Given the description of an element on the screen output the (x, y) to click on. 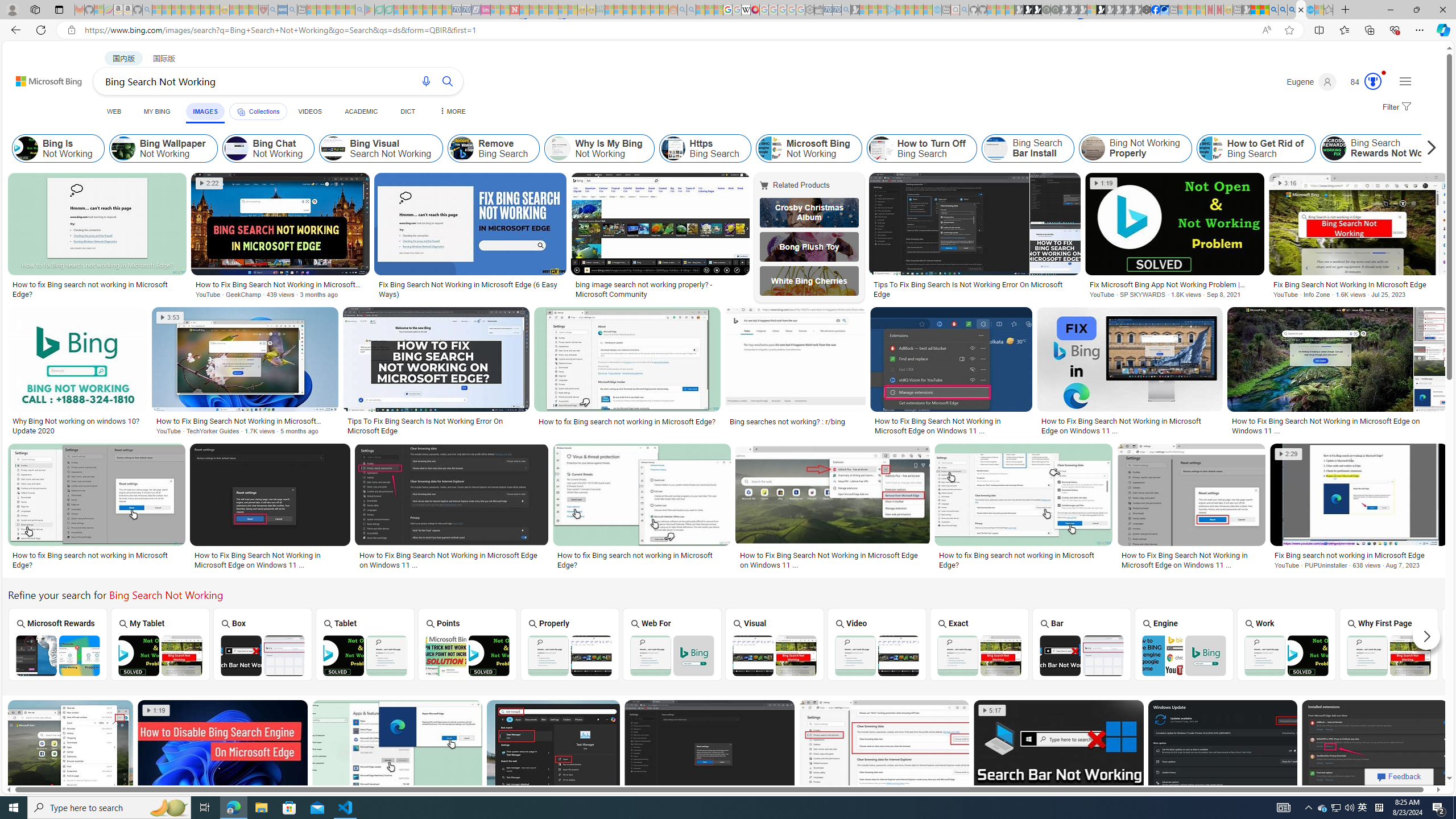
How to Turn Off Bing Search (879, 148)
Fix Bing search not working in Microsoft Edge (1358, 555)
Bing Tablet Search Not Working (364, 655)
Bing Wallpaper Not Working (122, 148)
Https Bing Search (673, 148)
Why Is My Bing Not Working (558, 148)
Fix Bing Search Not Working In Microsoft Edge (1358, 284)
Bing Search Engine Not Working Engine (1184, 643)
White Bing Cherries (809, 280)
